Given the description of an element on the screen output the (x, y) to click on. 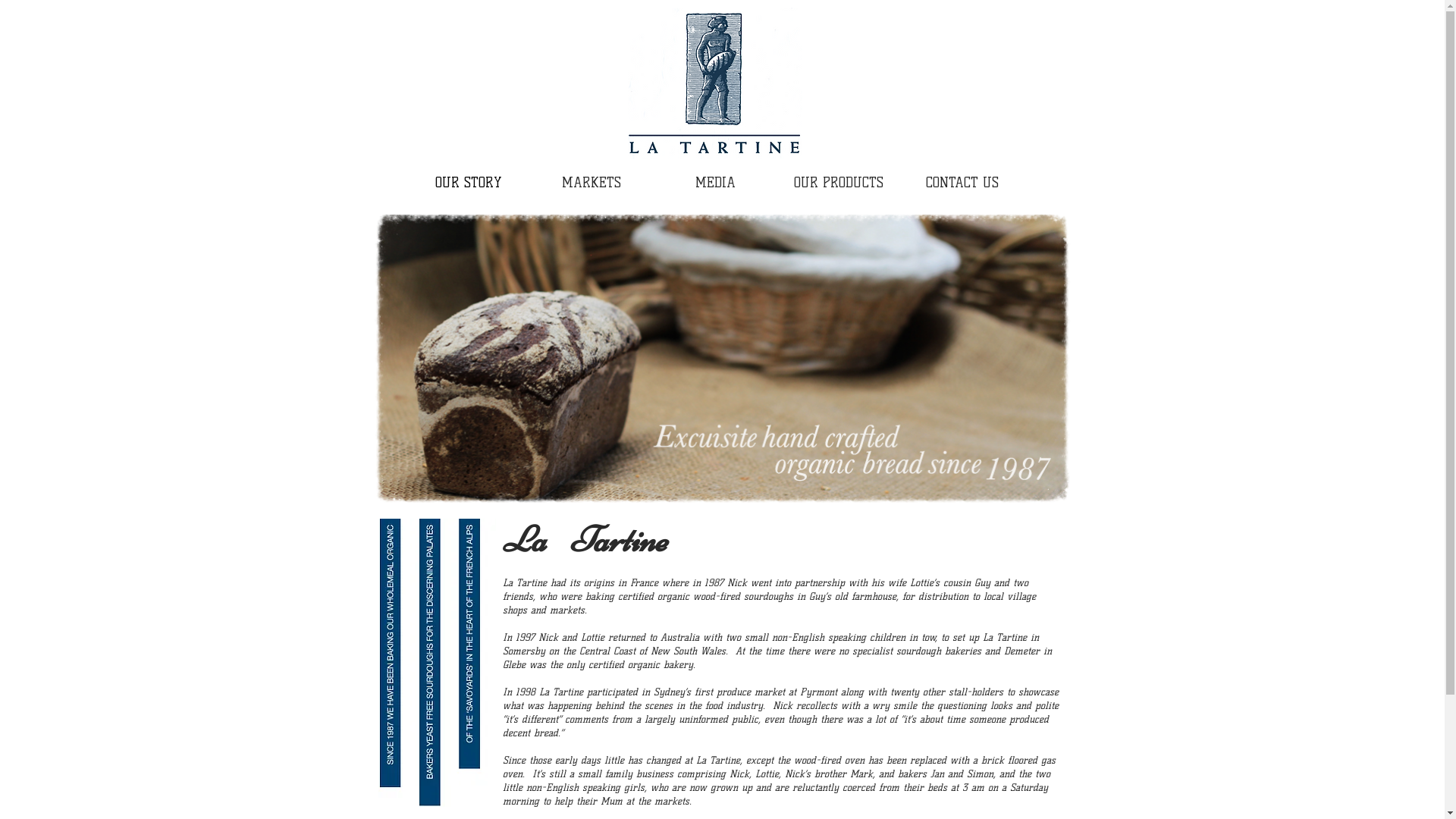
OUR PRODUCTS Element type: text (838, 182)
CONTACT US Element type: text (962, 182)
logo refait.png Element type: hover (714, 83)
MEDIA Element type: text (715, 182)
OUR STORY Element type: text (468, 182)
MARKETS Element type: text (590, 182)
LA TARTINE MOCK UP 6.5.jpg Element type: hover (436, 662)
